Given the description of an element on the screen output the (x, y) to click on. 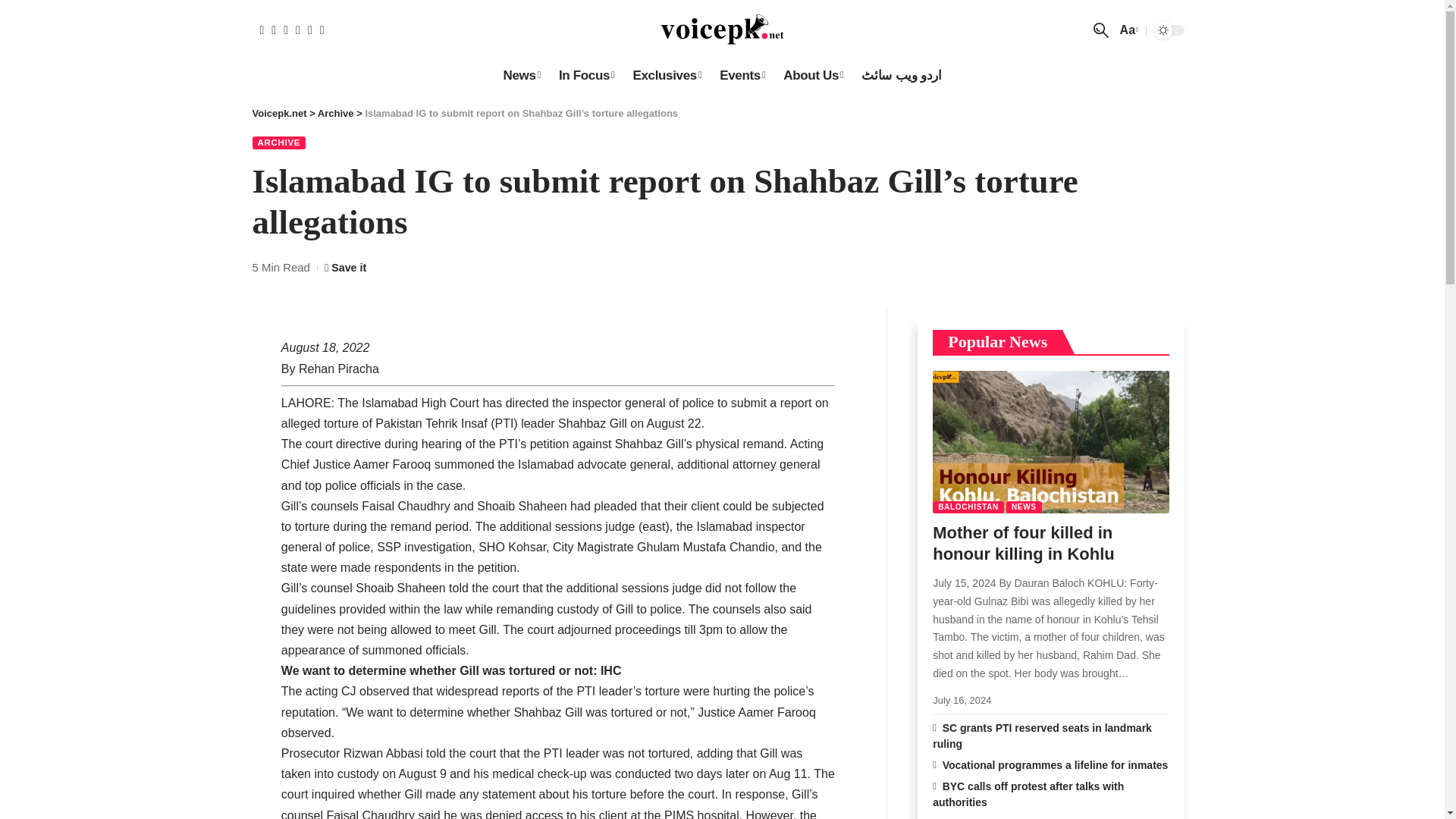
In Focus (587, 75)
Voicepk.net (722, 30)
Exclusives (666, 75)
Go to Voicepk.net. (278, 112)
Mother of four killed in honour killing in Kohlu (1051, 441)
Events (742, 75)
News (520, 75)
Go to the Archive Category archives. (335, 112)
About Us (812, 75)
Aa (1127, 29)
